Given the description of an element on the screen output the (x, y) to click on. 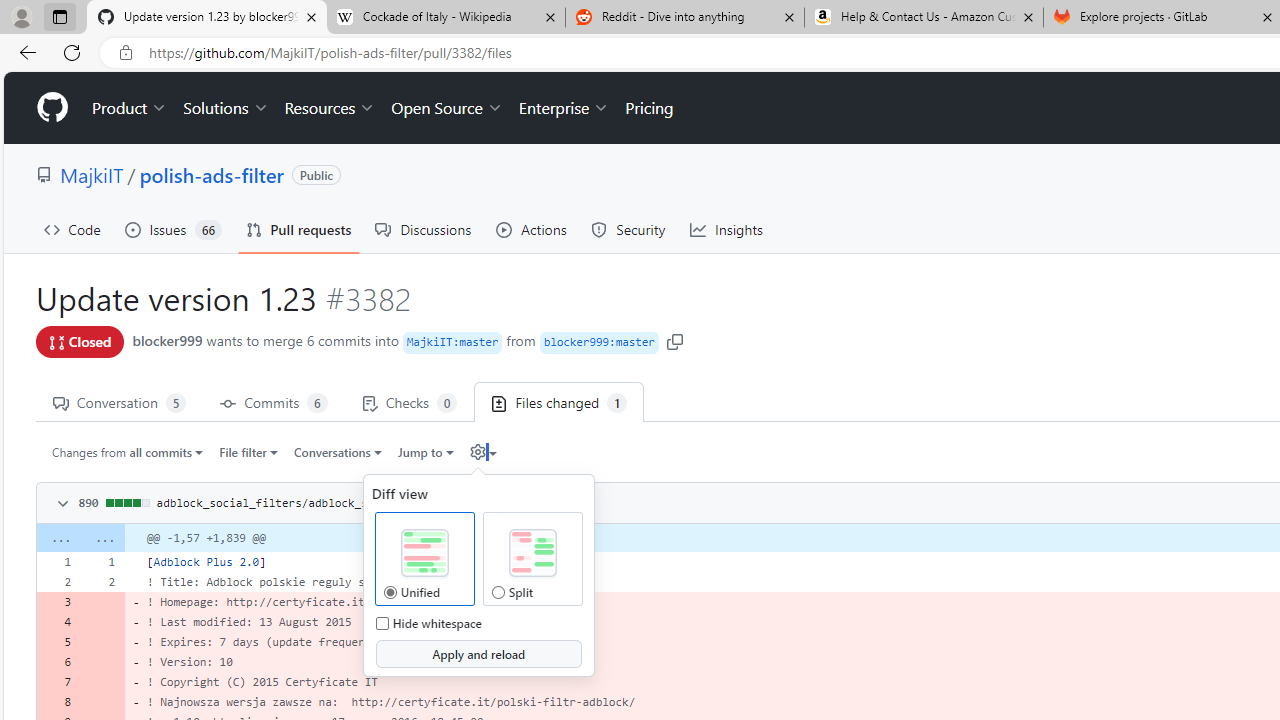
Diff settings (482, 451)
Product (130, 107)
Solutions (225, 107)
Discussions (424, 229)
adblock_social_filters/adblock_social_list.txt (308, 502)
Enterprise (563, 107)
Copy (476, 501)
5 (58, 642)
Code (71, 229)
Enterprise (563, 107)
7 (58, 681)
Pull requests (298, 229)
Pricing (649, 107)
